Given the description of an element on the screen output the (x, y) to click on. 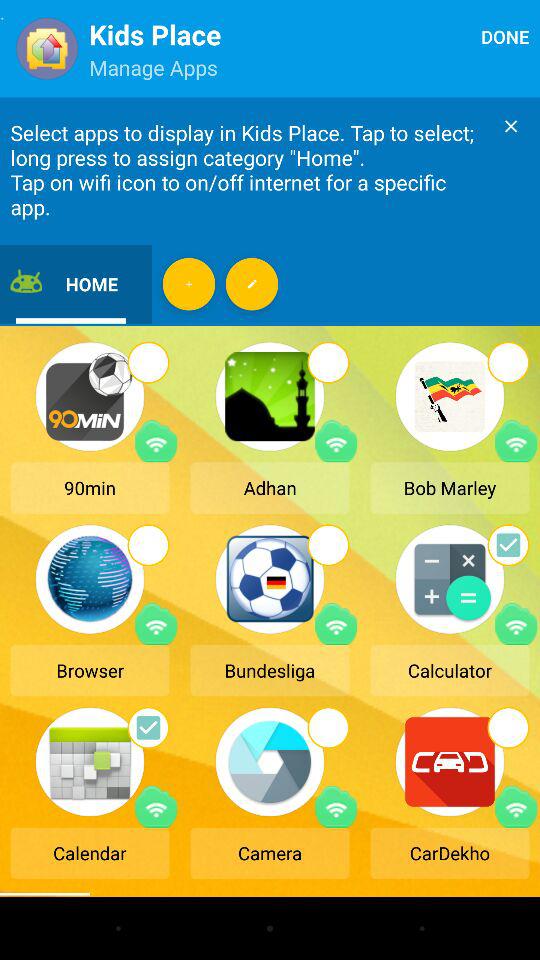
on/off wifi internet (516, 624)
